Given the description of an element on the screen output the (x, y) to click on. 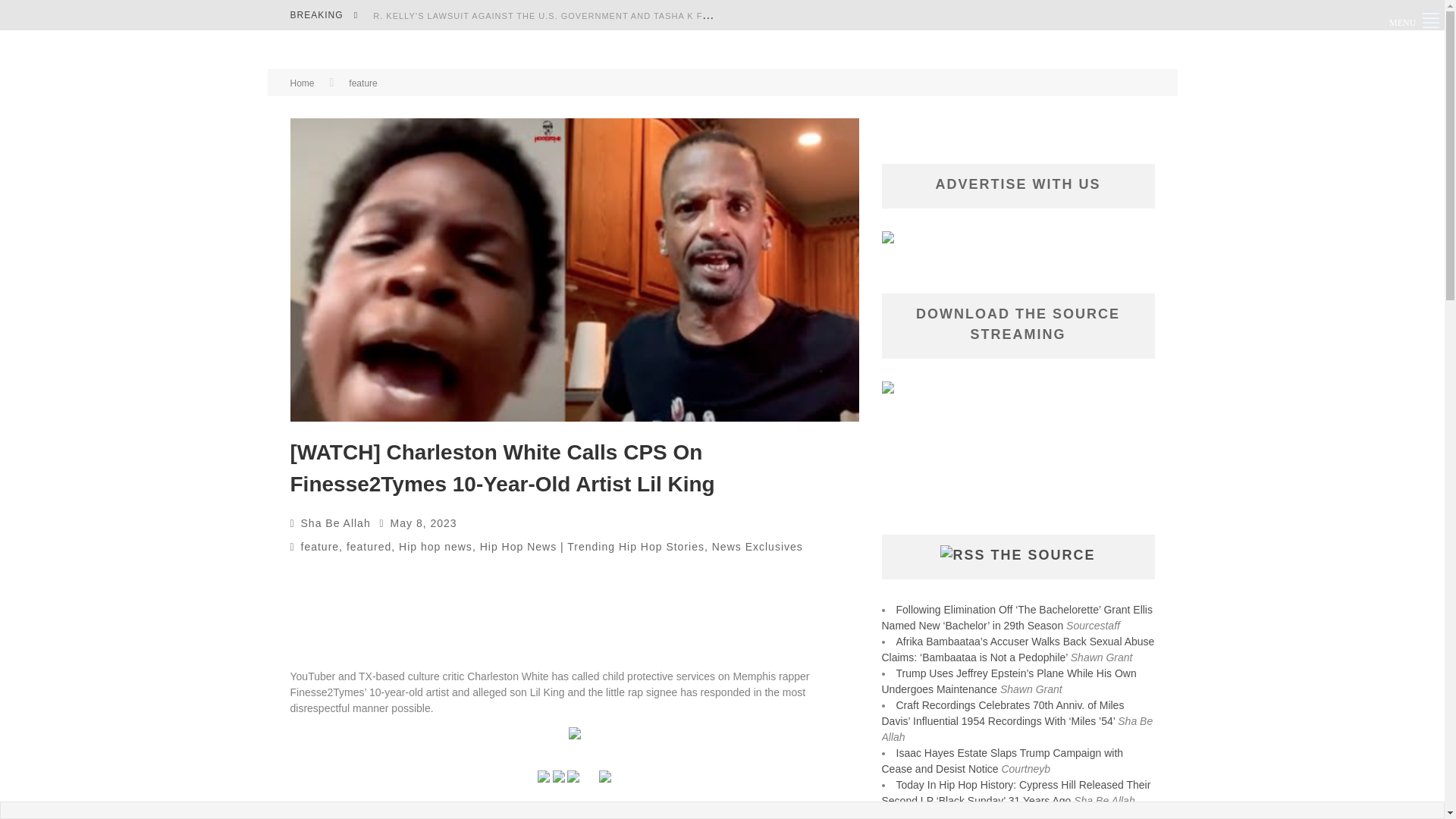
View all posts in feature (320, 546)
feature (320, 546)
Home (301, 82)
View all posts in feature (363, 82)
Visit streaming.thesource.com for more information (574, 816)
Hip hop news (434, 546)
feature (363, 82)
featured (368, 546)
Sha Be Allah (336, 522)
